Given the description of an element on the screen output the (x, y) to click on. 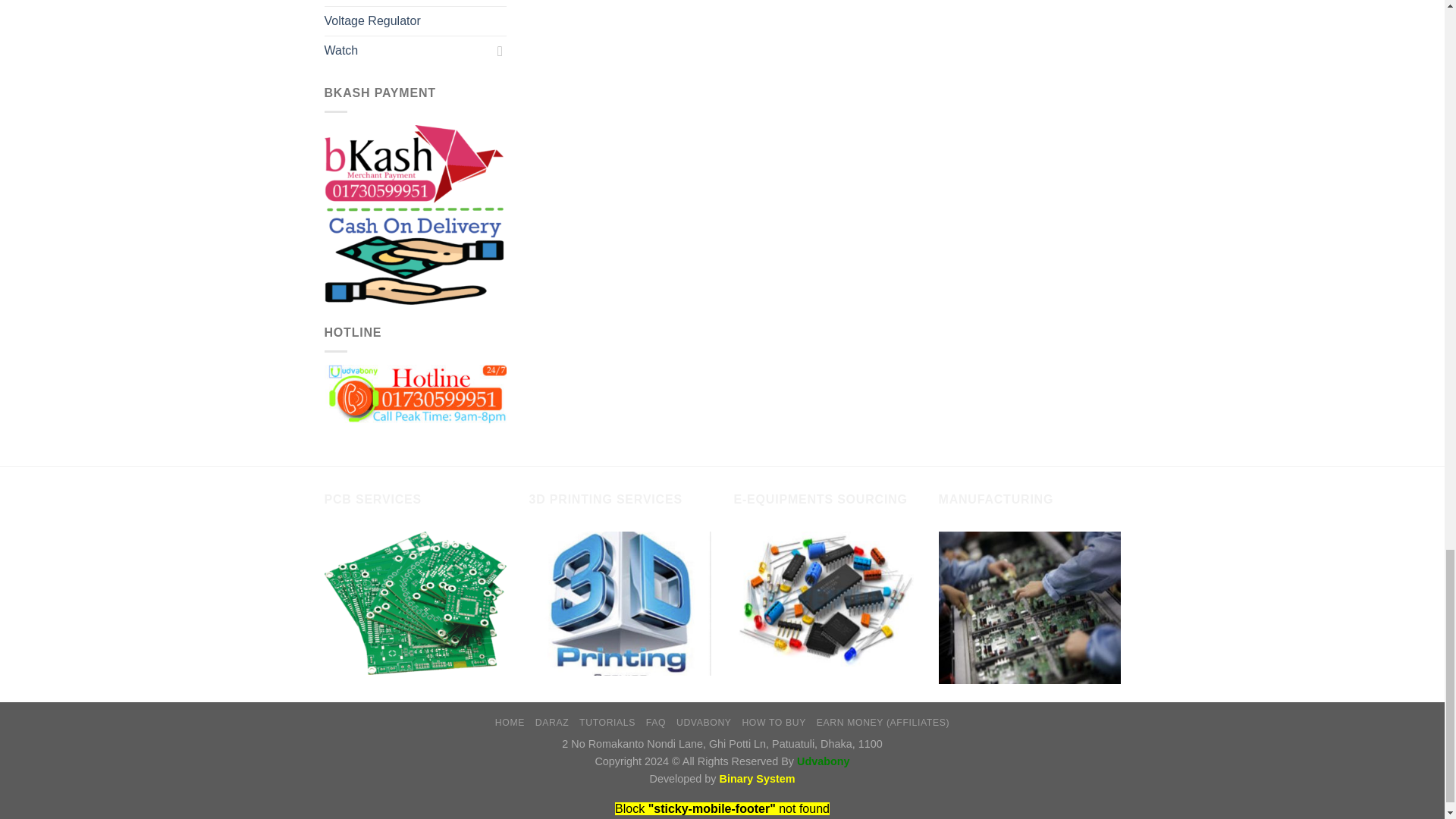
3D Printing Services (620, 603)
PCB Services (415, 602)
E-Equipments Sourcing (824, 598)
Manufacturing (1030, 607)
